Given the description of an element on the screen output the (x, y) to click on. 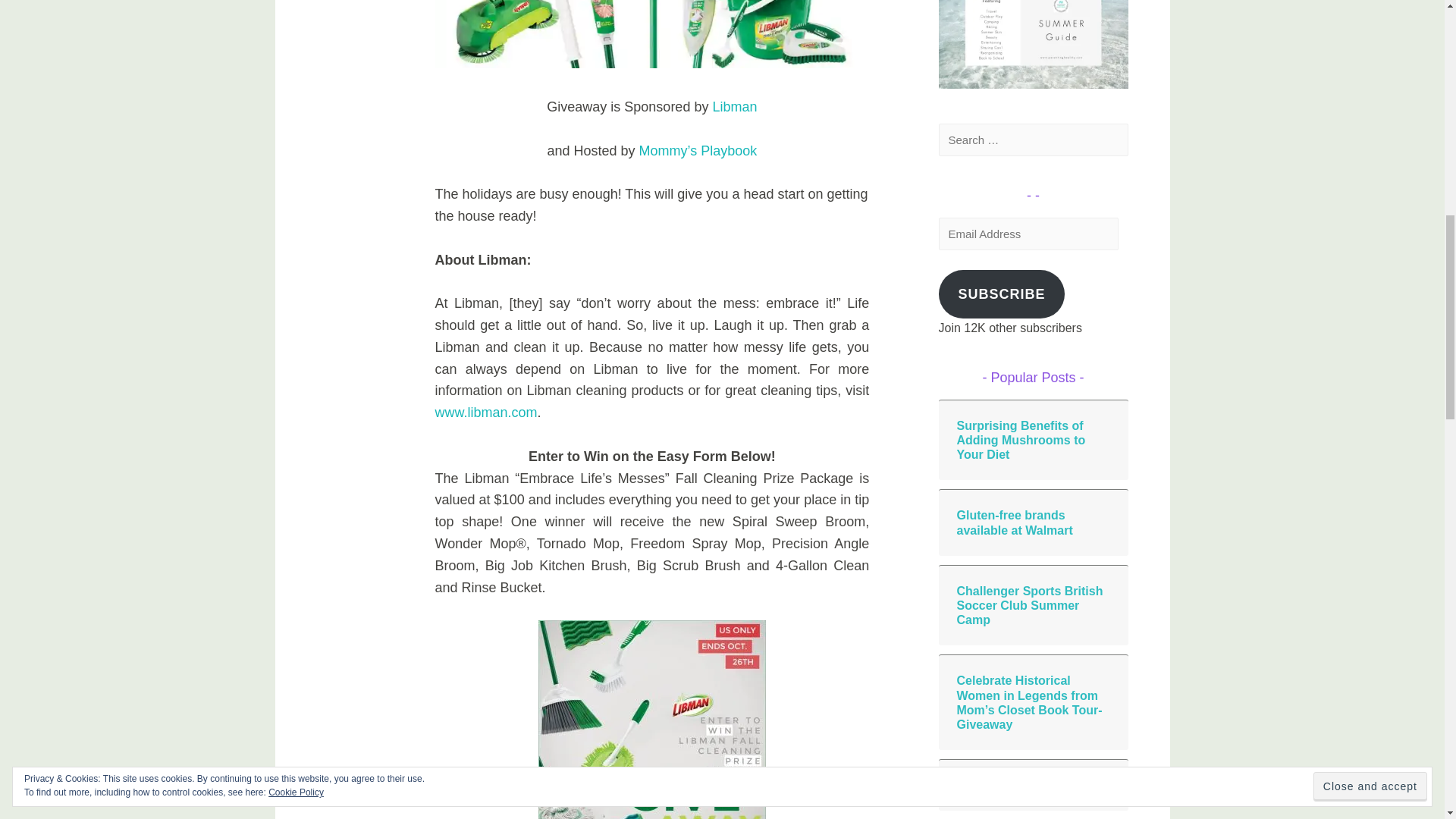
Libman Fall Cleaning Prize Pack Giveaway (652, 33)
Libman (734, 106)
